Given the description of an element on the screen output the (x, y) to click on. 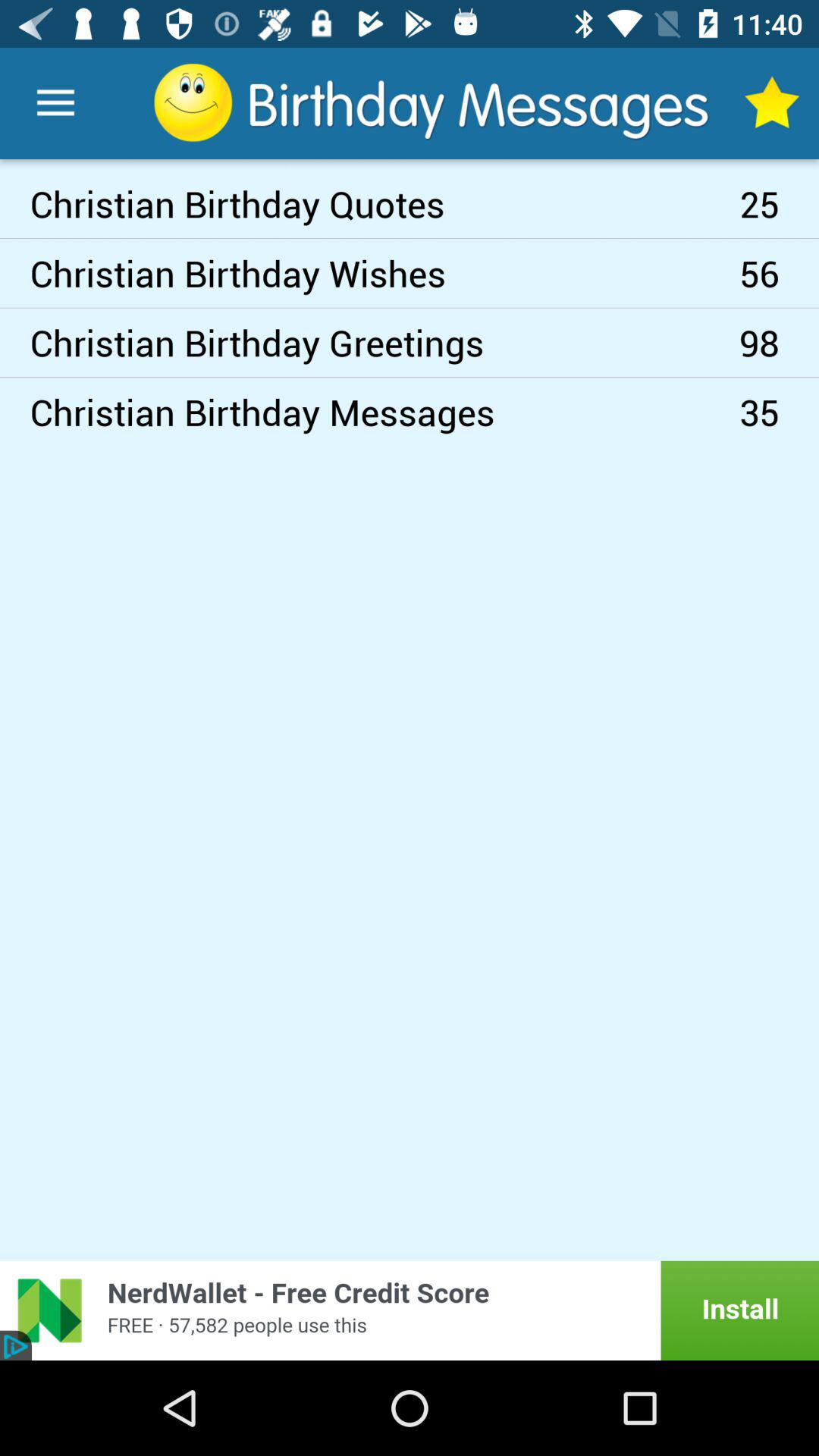
open 25 icon (779, 203)
